Given the description of an element on the screen output the (x, y) to click on. 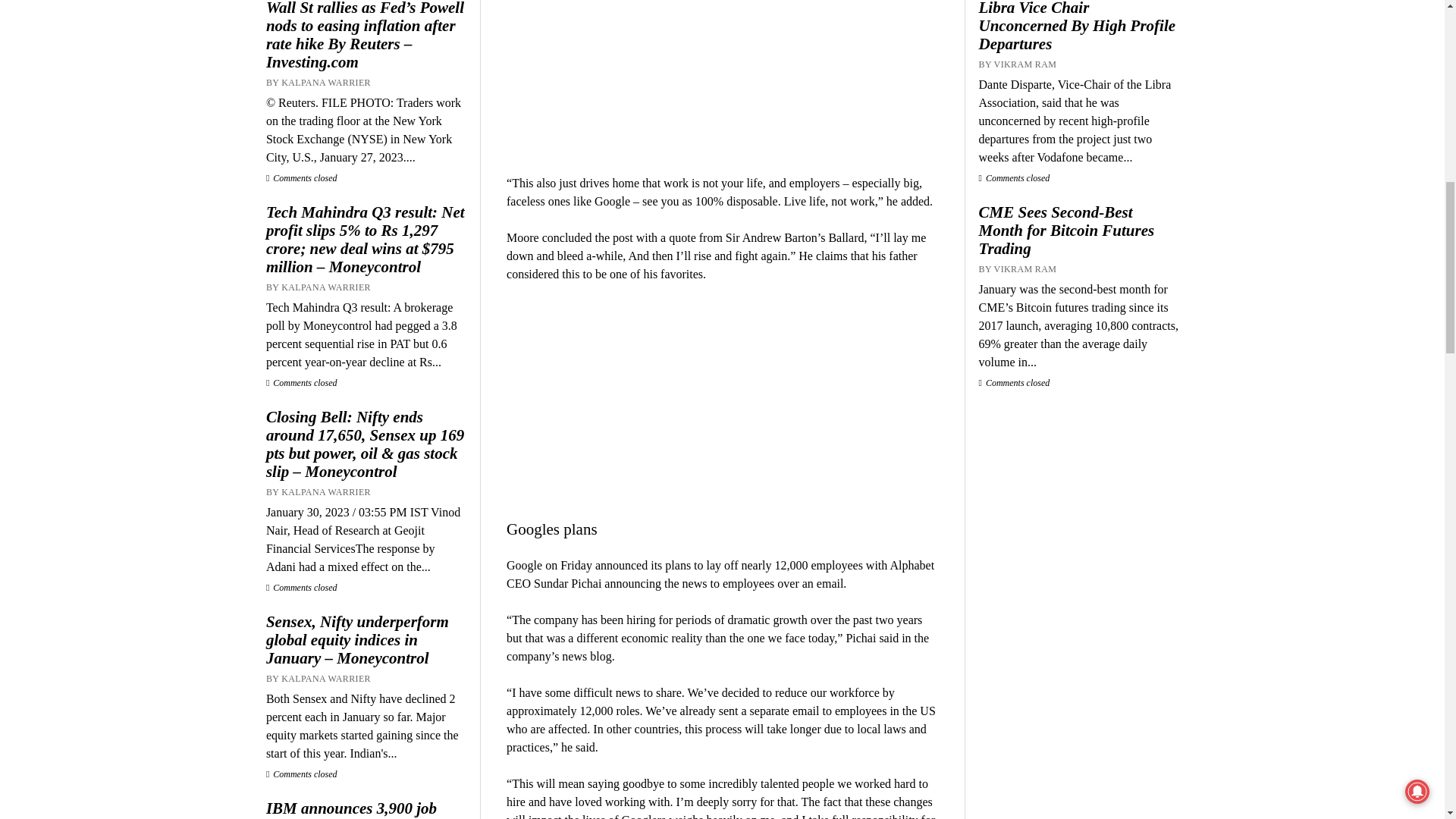
Comments closed (301, 177)
Comments closed (301, 774)
Comments closed (301, 382)
Comments closed (301, 587)
